Given the description of an element on the screen output the (x, y) to click on. 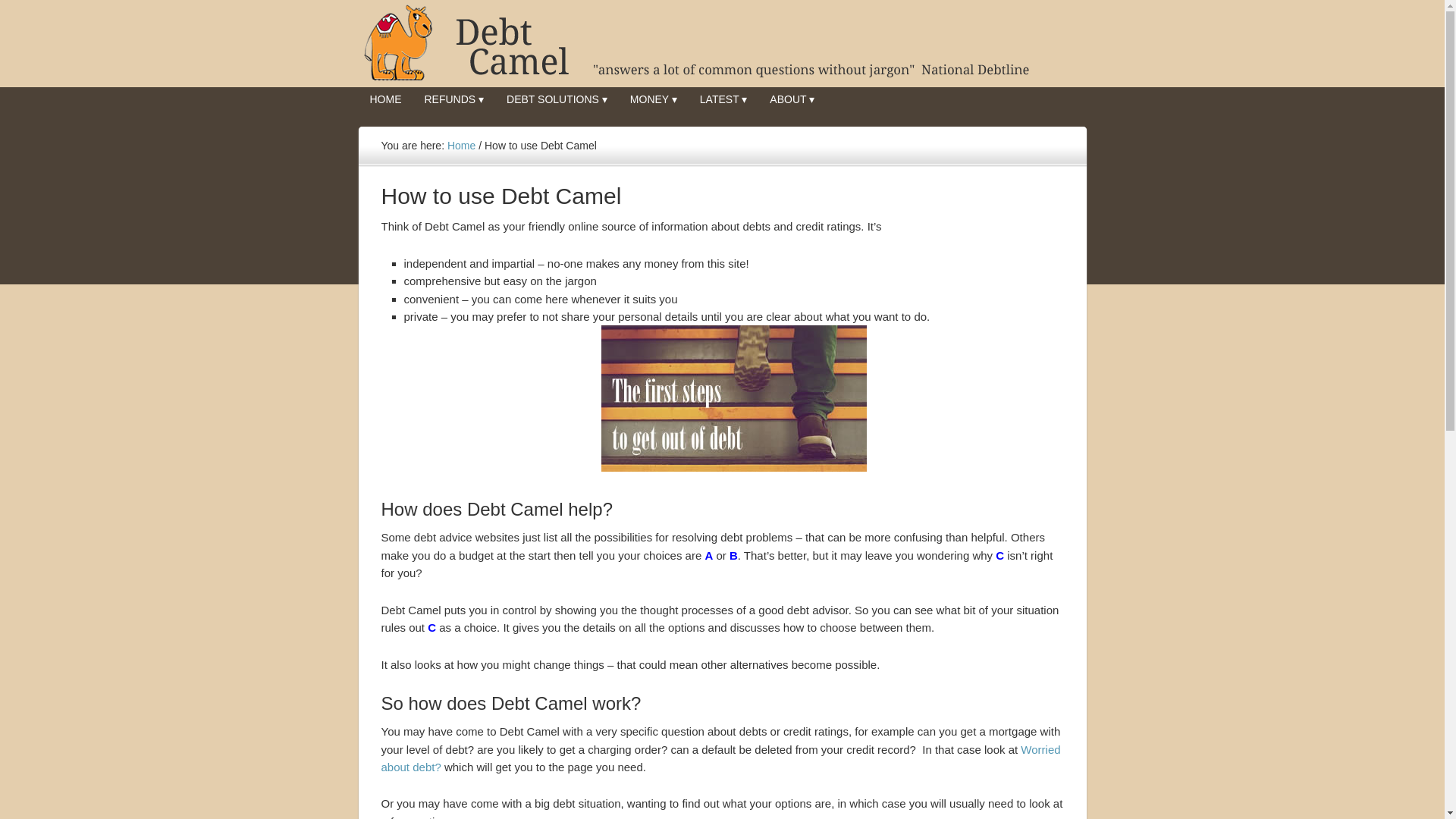
Worried about debt? (719, 757)
Home (461, 145)
DEBT CAMEL (722, 43)
HOME (385, 98)
